Given the description of an element on the screen output the (x, y) to click on. 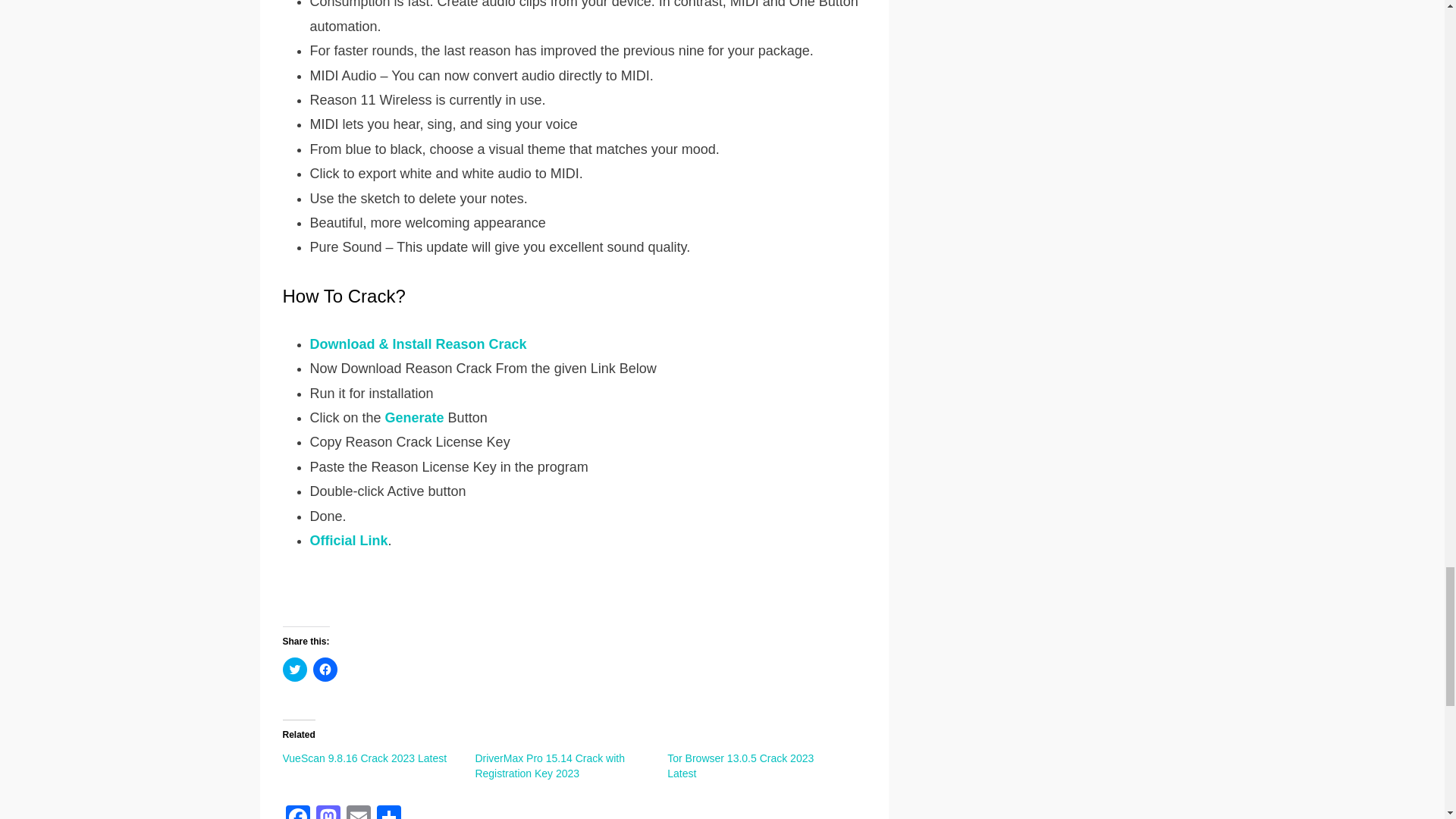
Tor Browser 13.0.5 Crack 2023 Latest (739, 765)
VueScan 9.8.16 Crack 2023 Latest (364, 758)
DriverMax Pro 15.14 Crack with Registration Key 2023 (549, 765)
Email (357, 812)
Mastodon (327, 812)
Click to share on Facebook (324, 669)
Click to share on Twitter (293, 669)
VueScan 9.8.16 Crack 2023 Latest (364, 758)
Generate (414, 417)
Facebook (297, 812)
